Given the description of an element on the screen output the (x, y) to click on. 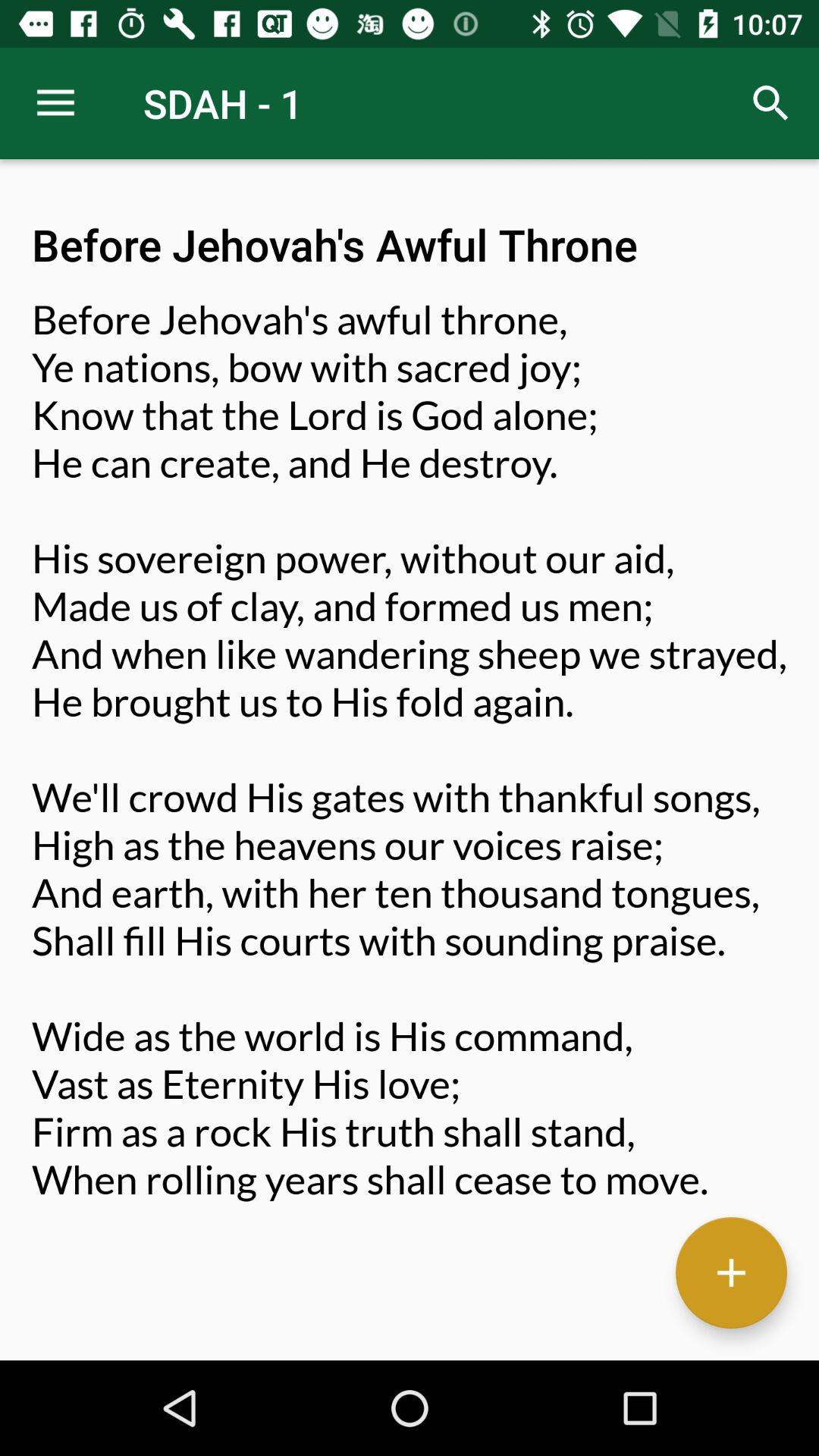
open item at the top right corner (771, 103)
